Given the description of an element on the screen output the (x, y) to click on. 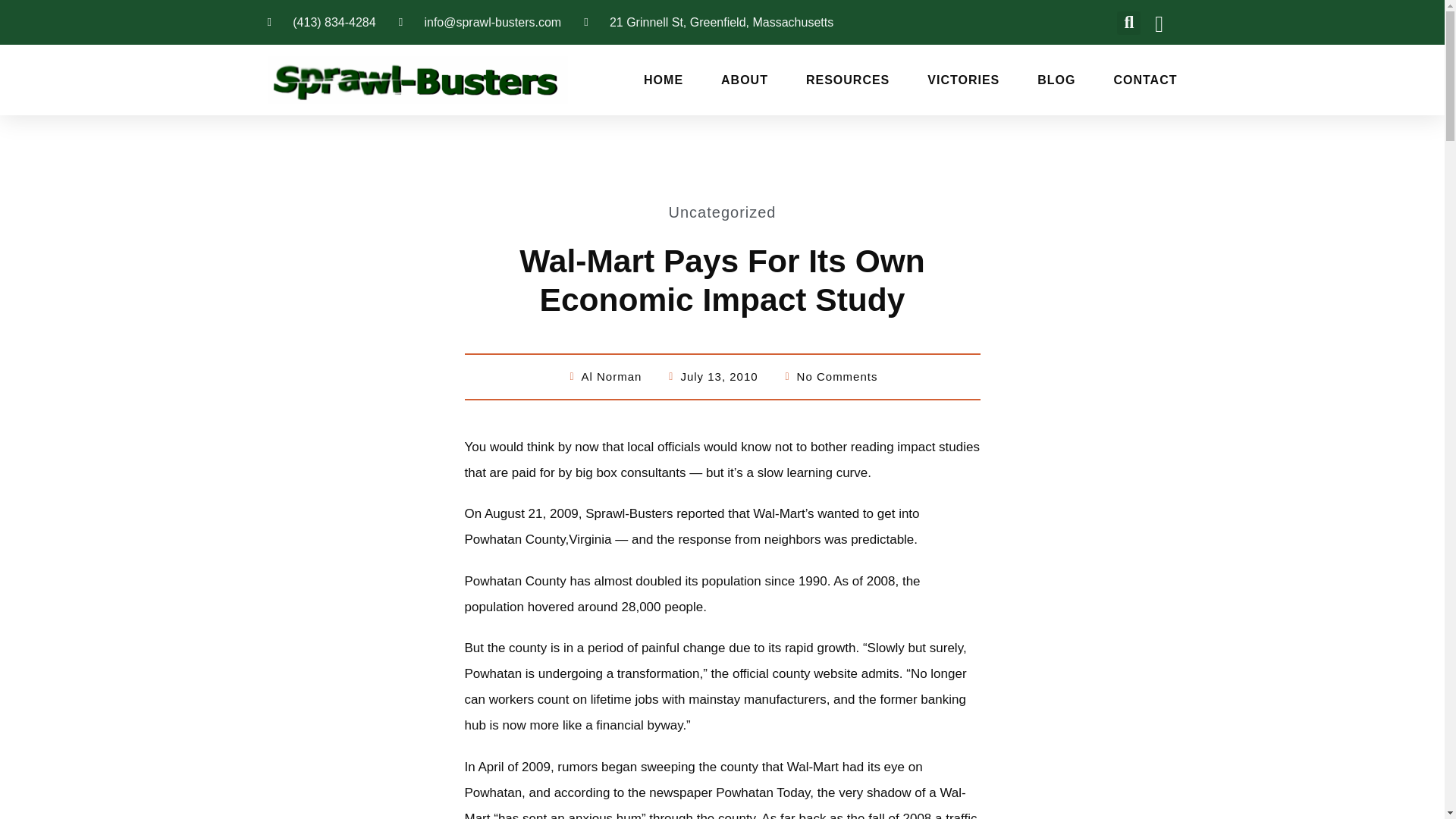
VICTORIES (962, 80)
Al Norman (604, 376)
July 13, 2010 (711, 376)
CONTACT (1144, 80)
BLOG (1055, 80)
No Comments (830, 376)
Uncategorized (722, 211)
RESOURCES (847, 80)
HOME (662, 80)
ABOUT (744, 80)
